Given the description of an element on the screen output the (x, y) to click on. 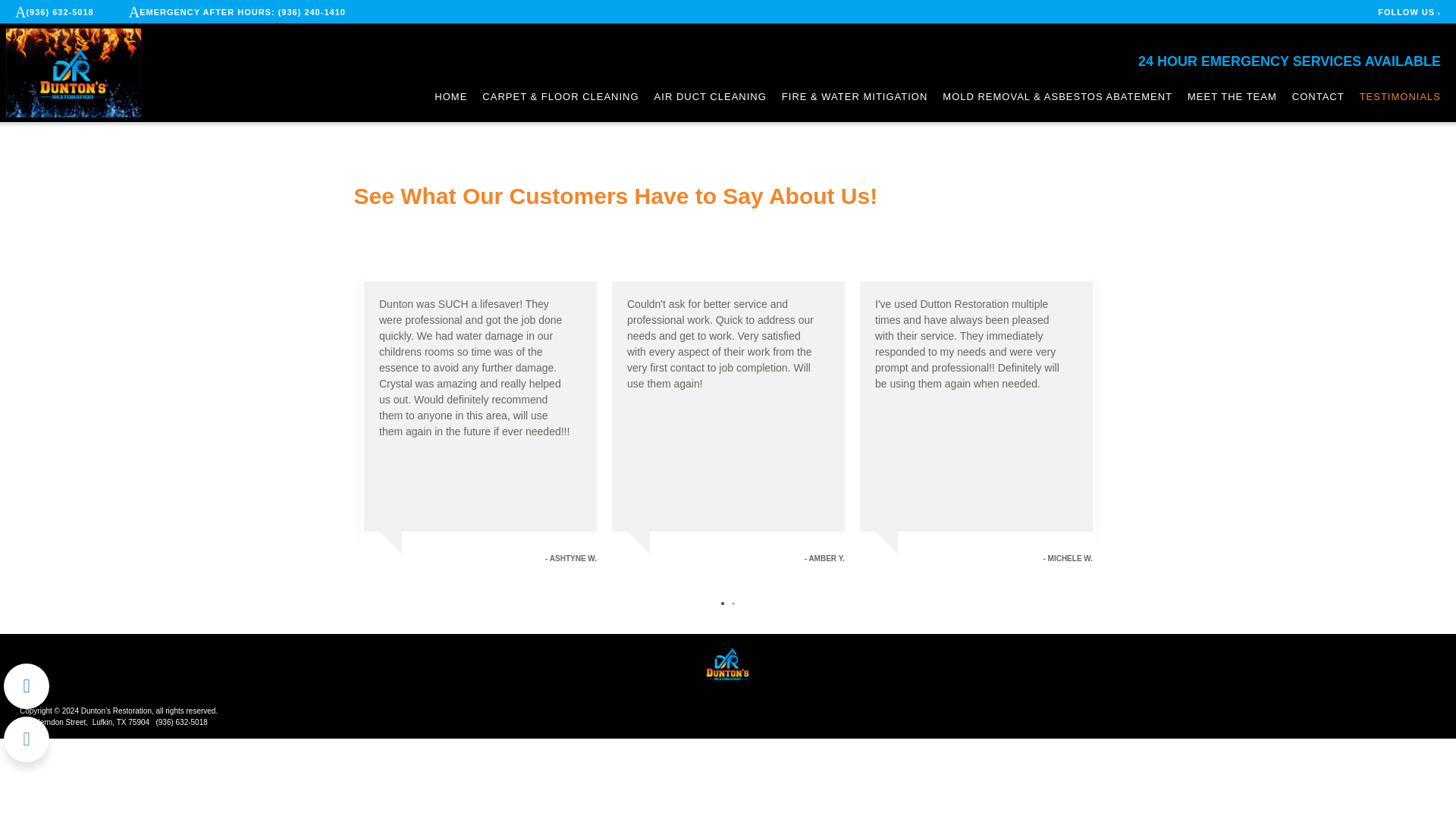
CONTACT (1317, 96)
HOME (450, 96)
MEET THE TEAM (1232, 96)
TESTIMONIALS (1400, 96)
AIR DUCT CLEANING (710, 96)
